Given the description of an element on the screen output the (x, y) to click on. 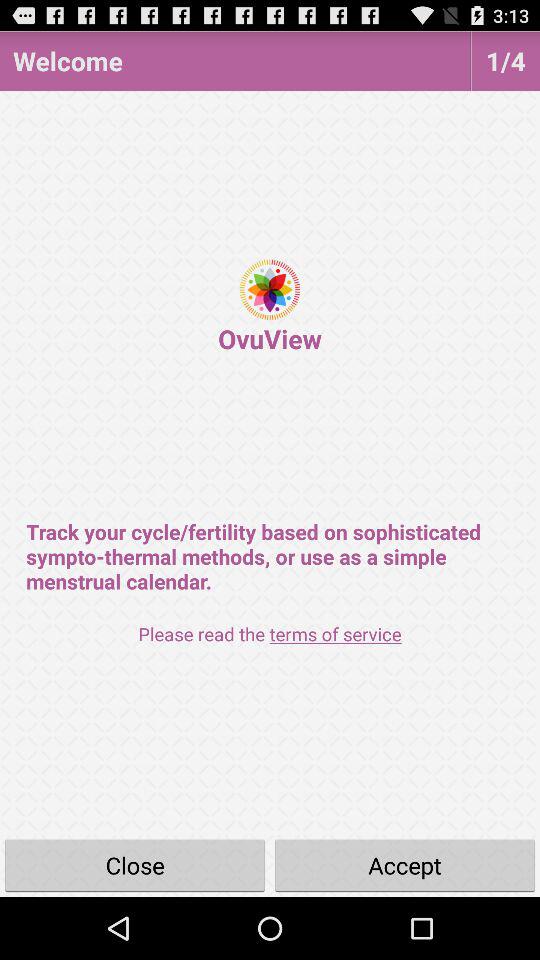
press button to the right of close button (405, 864)
